Given the description of an element on the screen output the (x, y) to click on. 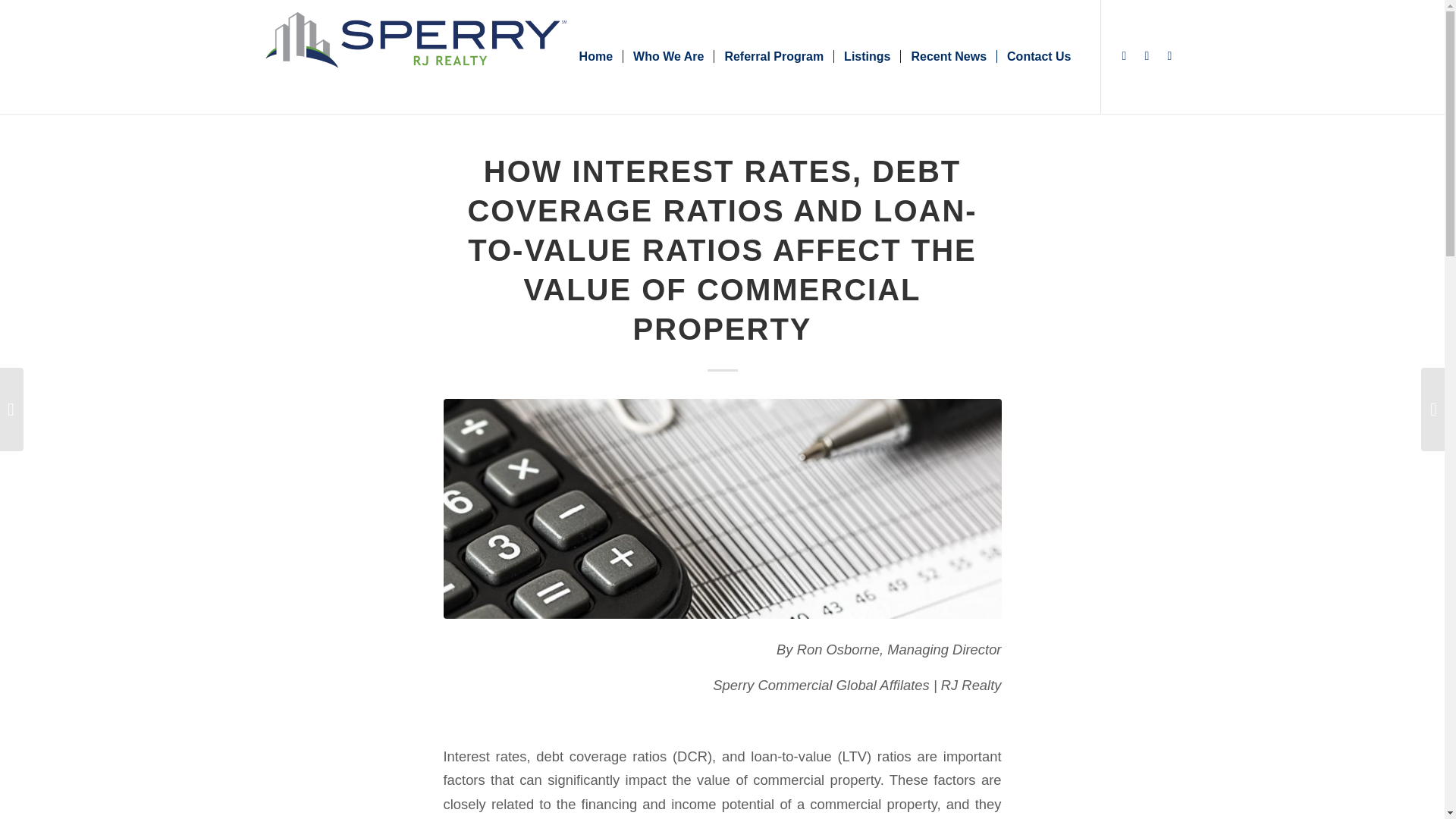
Facebook (1124, 56)
Referral Program (772, 56)
LinkedIn (1146, 56)
Mail (1169, 56)
